Given the description of an element on the screen output the (x, y) to click on. 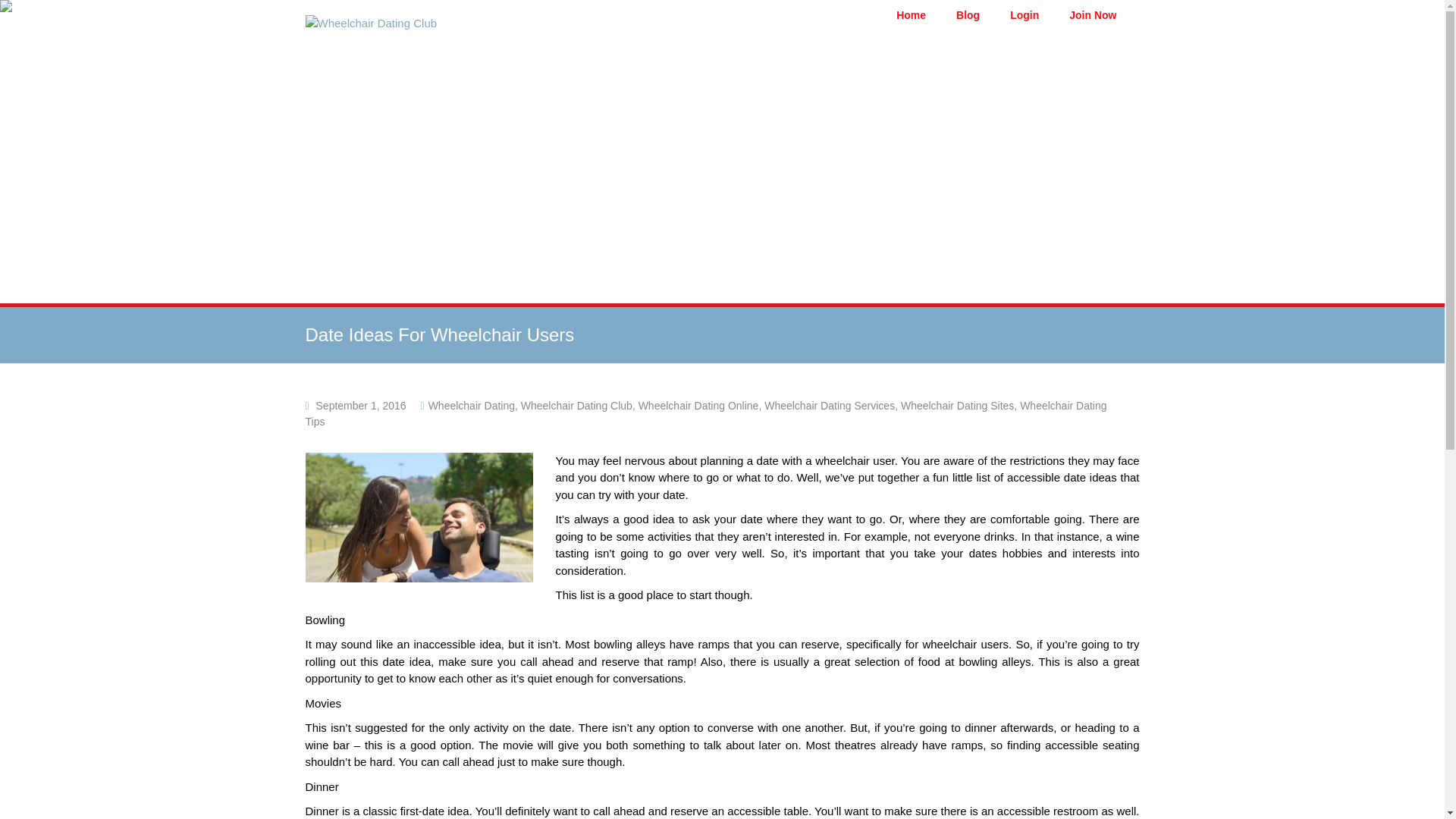
Home (911, 15)
6:49 pm (360, 405)
Wheelchair Dating Club (576, 405)
Wheelchair Dating (471, 405)
September 1, 2016 (360, 405)
Join Now (1092, 15)
Wheelchair Dating Tips (705, 413)
Login (1024, 15)
Wheelchair Dating Online (698, 405)
Wheelchair Dating Sites (957, 405)
Wheelchair Dating Club (370, 22)
Wheelchair Dating Services (829, 405)
